Given the description of an element on the screen output the (x, y) to click on. 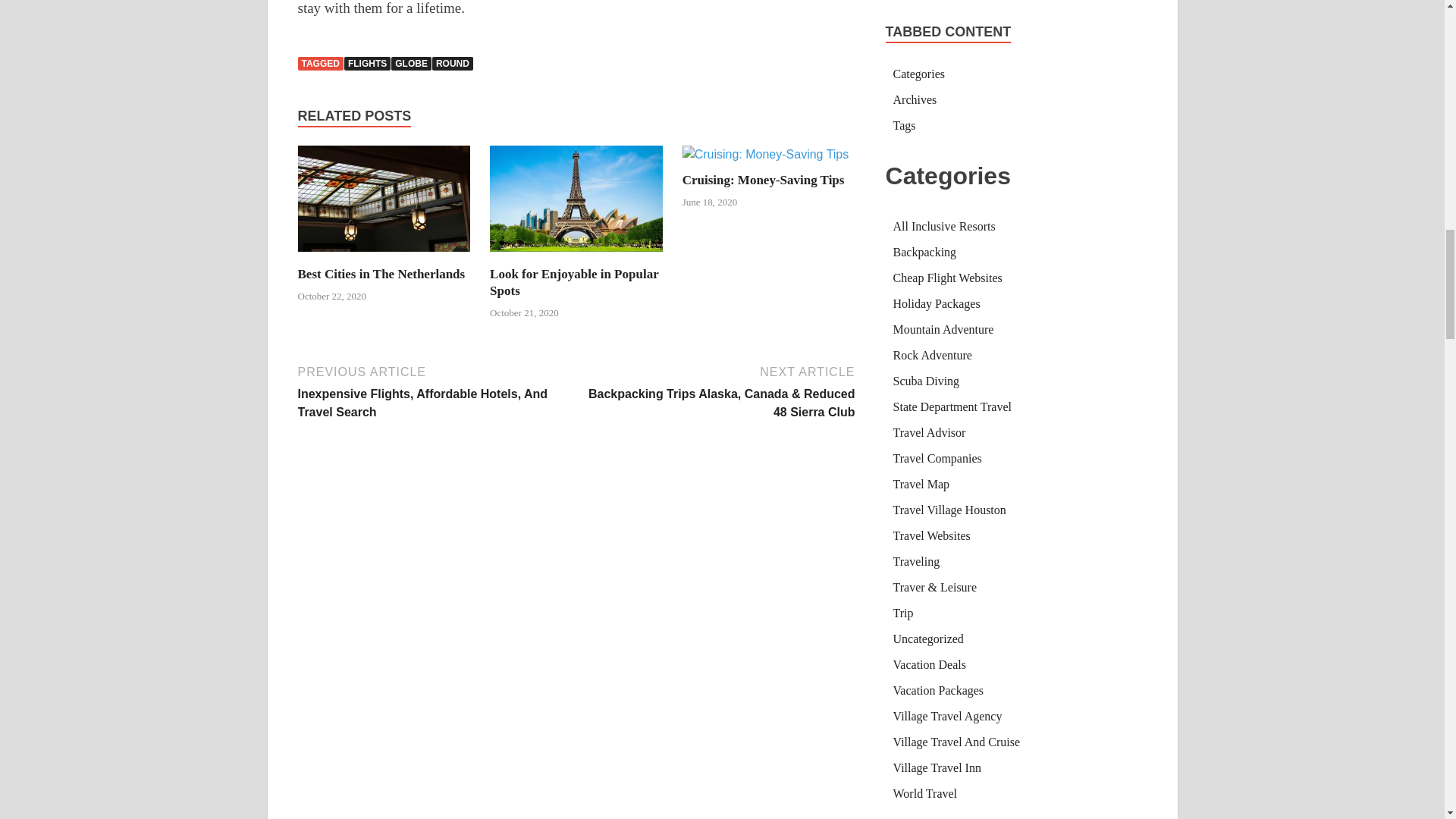
Cruising: Money-Saving Tips (765, 154)
Best Cities in The Netherlands (383, 256)
Look for Enjoyable in Popular Spots (575, 256)
Cruising: Money-Saving Tips (763, 179)
Best Cities in The Netherlands (380, 273)
Look for Enjoyable in Popular Spots (573, 282)
